Given the description of an element on the screen output the (x, y) to click on. 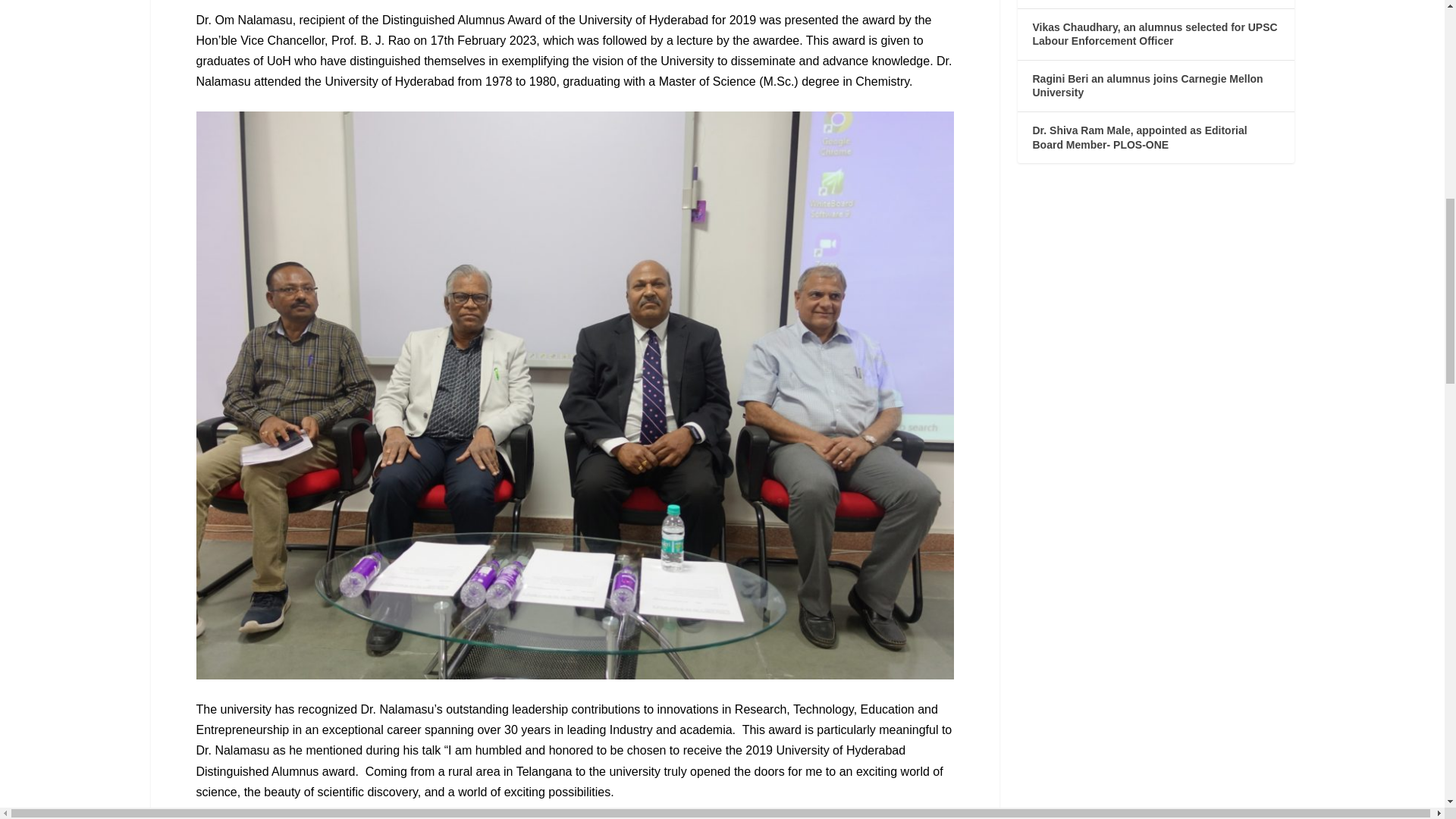
Ragini Beri an alumnus joins Carnegie Mellon University (1147, 85)
